Given the description of an element on the screen output the (x, y) to click on. 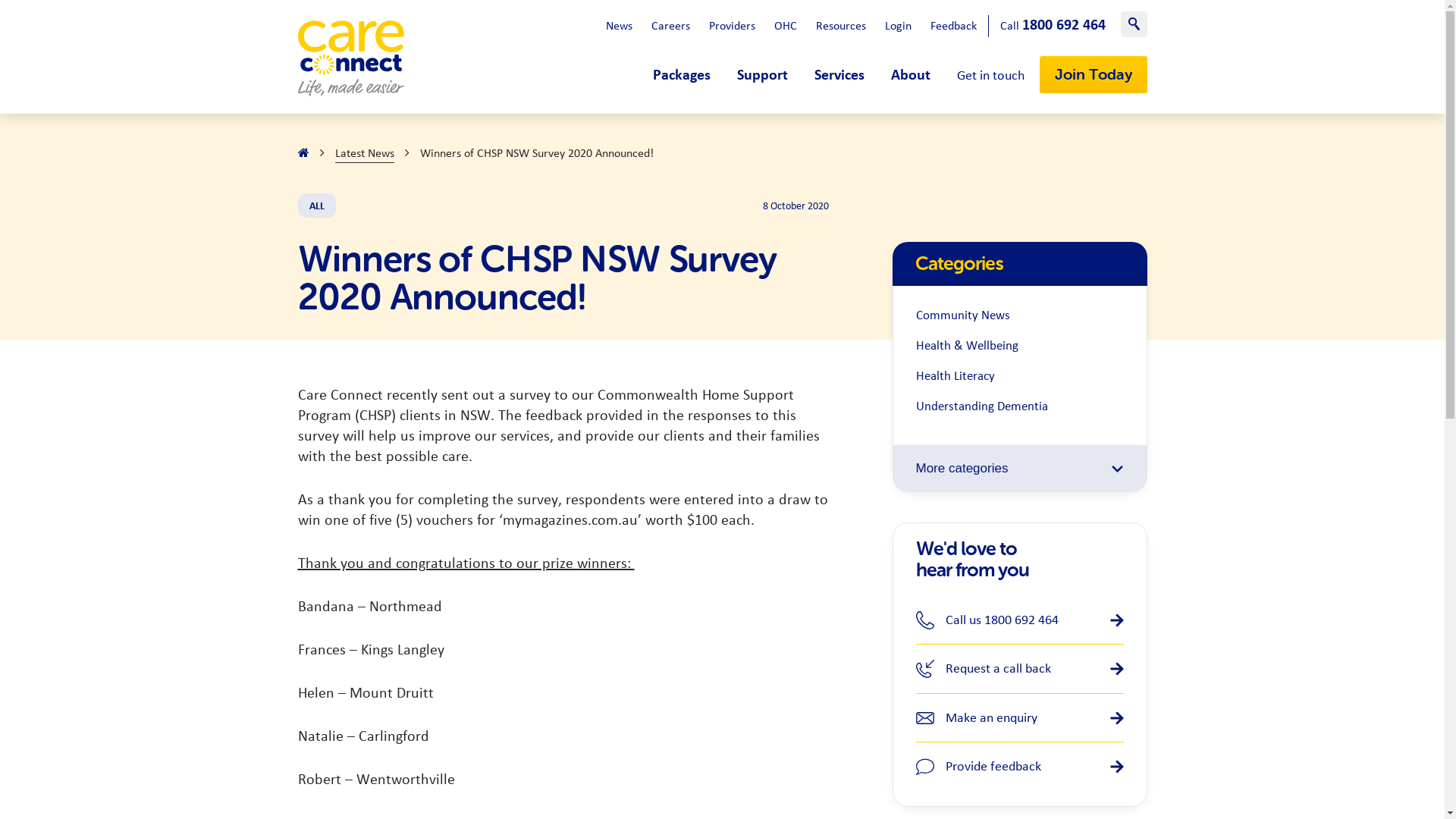
Support Element type: text (762, 74)
Get in touch Element type: text (990, 75)
Feedback Element type: text (952, 25)
Services Element type: text (839, 74)
Login Element type: text (897, 25)
Careers Element type: text (669, 25)
1800 692 464 Element type: text (1063, 24)
Understanding Dementia Element type: text (1019, 407)
Health & Wellbeing Element type: text (1019, 346)
Join Today Element type: text (1092, 74)
Provide feedback Element type: text (1019, 766)
Resources Element type: text (840, 25)
Request a call back Element type: text (1019, 668)
Providers Element type: text (731, 25)
Health Literacy Element type: text (1019, 376)
OHC Element type: text (784, 25)
About Element type: text (909, 74)
Make an enquiry Element type: text (1019, 717)
ALL Element type: text (316, 205)
Call us 1800 692 464 Element type: text (1019, 620)
News Element type: text (618, 25)
Community News Element type: text (1019, 316)
More categories Element type: text (1018, 468)
Packages Element type: text (680, 74)
Latest News Element type: text (364, 153)
